Given the description of an element on the screen output the (x, y) to click on. 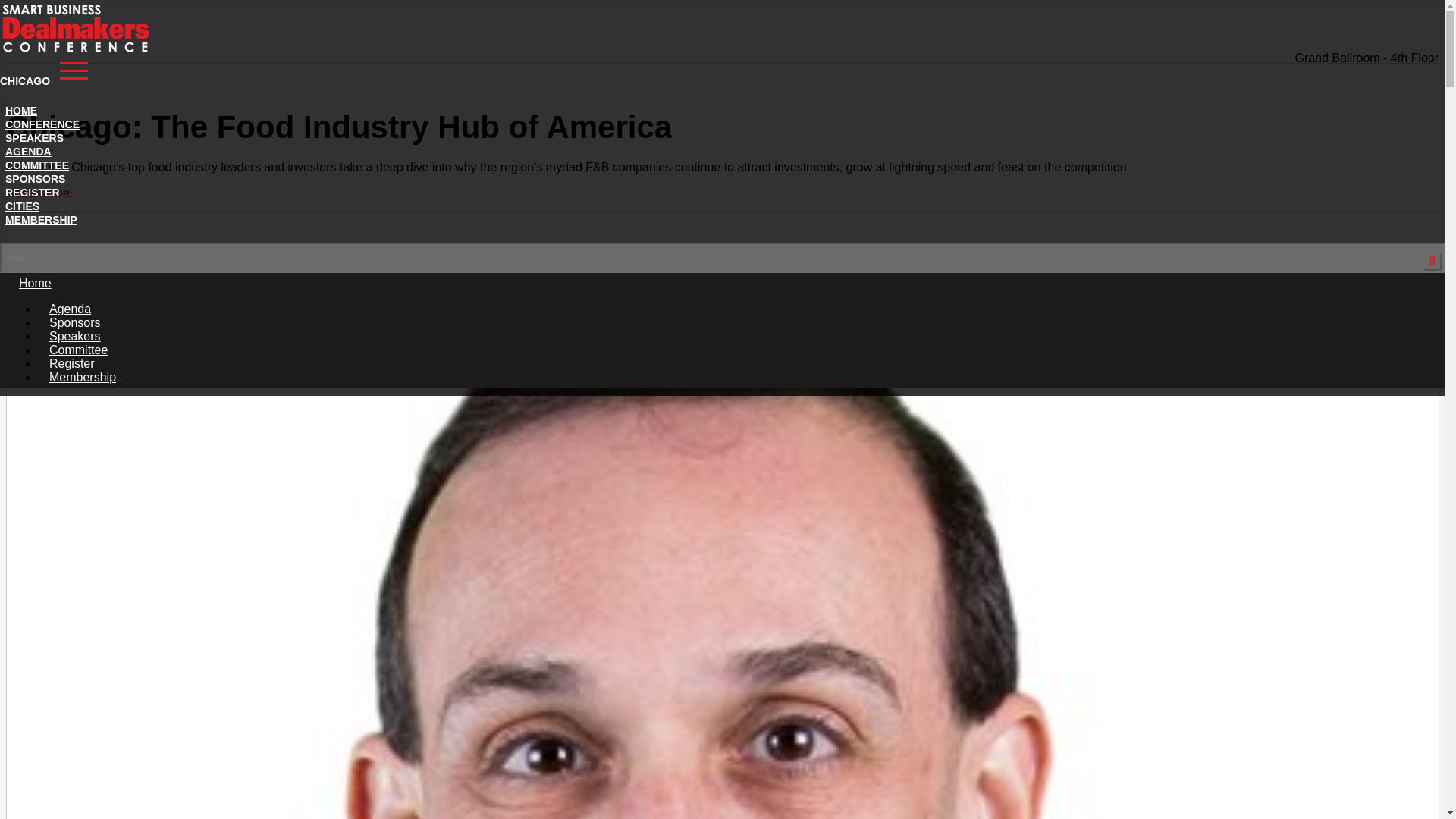
HOME (21, 110)
CHICAGO (75, 66)
AGENDA (27, 151)
SPONSORS (35, 178)
REGISTER (32, 192)
Home (34, 283)
COMMITTEE (36, 164)
Committee (78, 349)
Speakers (74, 336)
MEMBERSHIP (41, 219)
SPEAKERS (34, 137)
Register (71, 363)
CONFERENCE (42, 123)
Sponsors (74, 322)
